Given the description of an element on the screen output the (x, y) to click on. 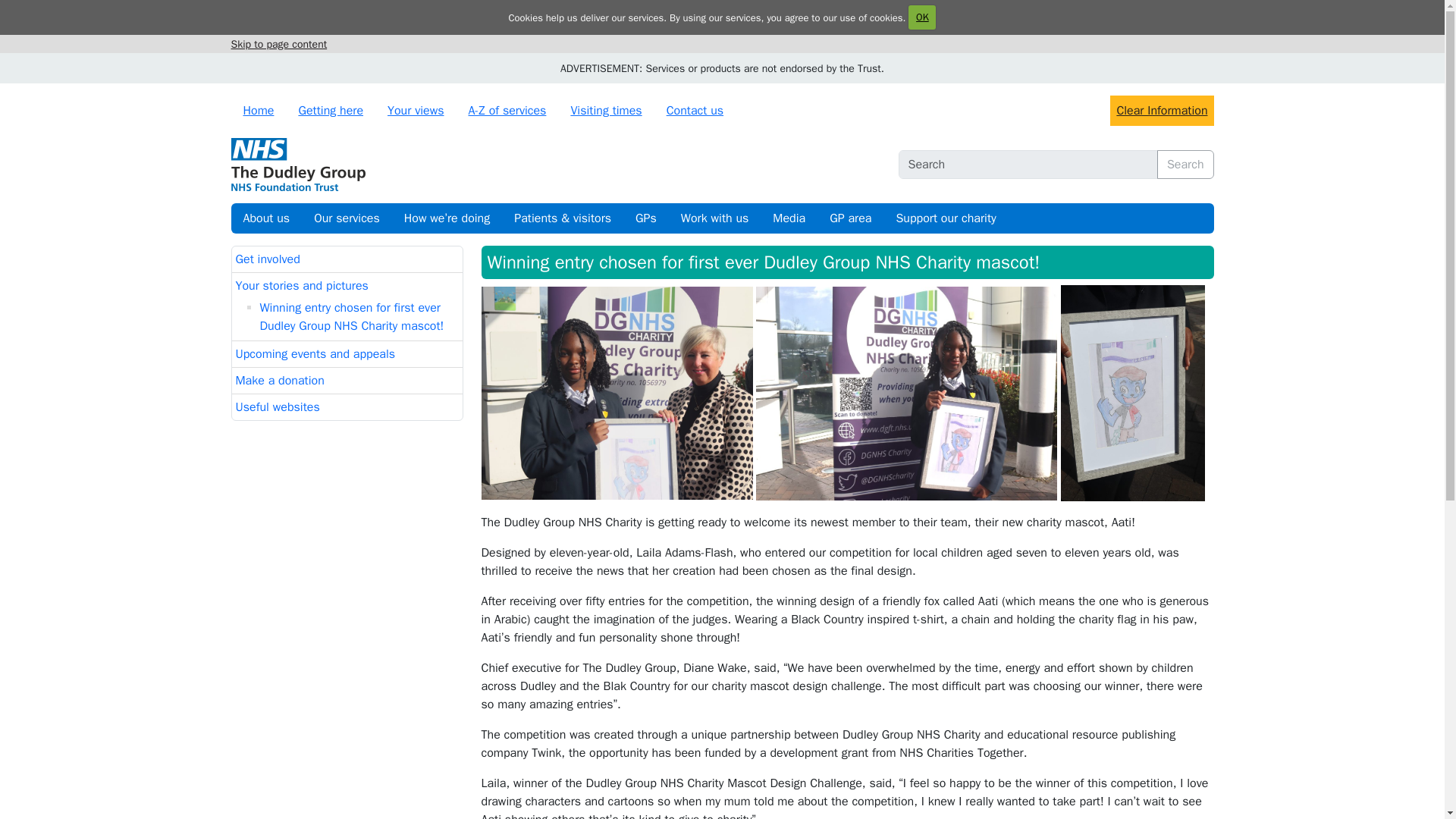
Useful websites (276, 406)
Your stories and pictures (301, 284)
Home (258, 110)
Our services (347, 218)
Work with us (714, 218)
Upcoming events and appeals (314, 353)
Your views (415, 110)
GPs (645, 218)
Visiting times (606, 110)
Get involved (266, 258)
